Given the description of an element on the screen output the (x, y) to click on. 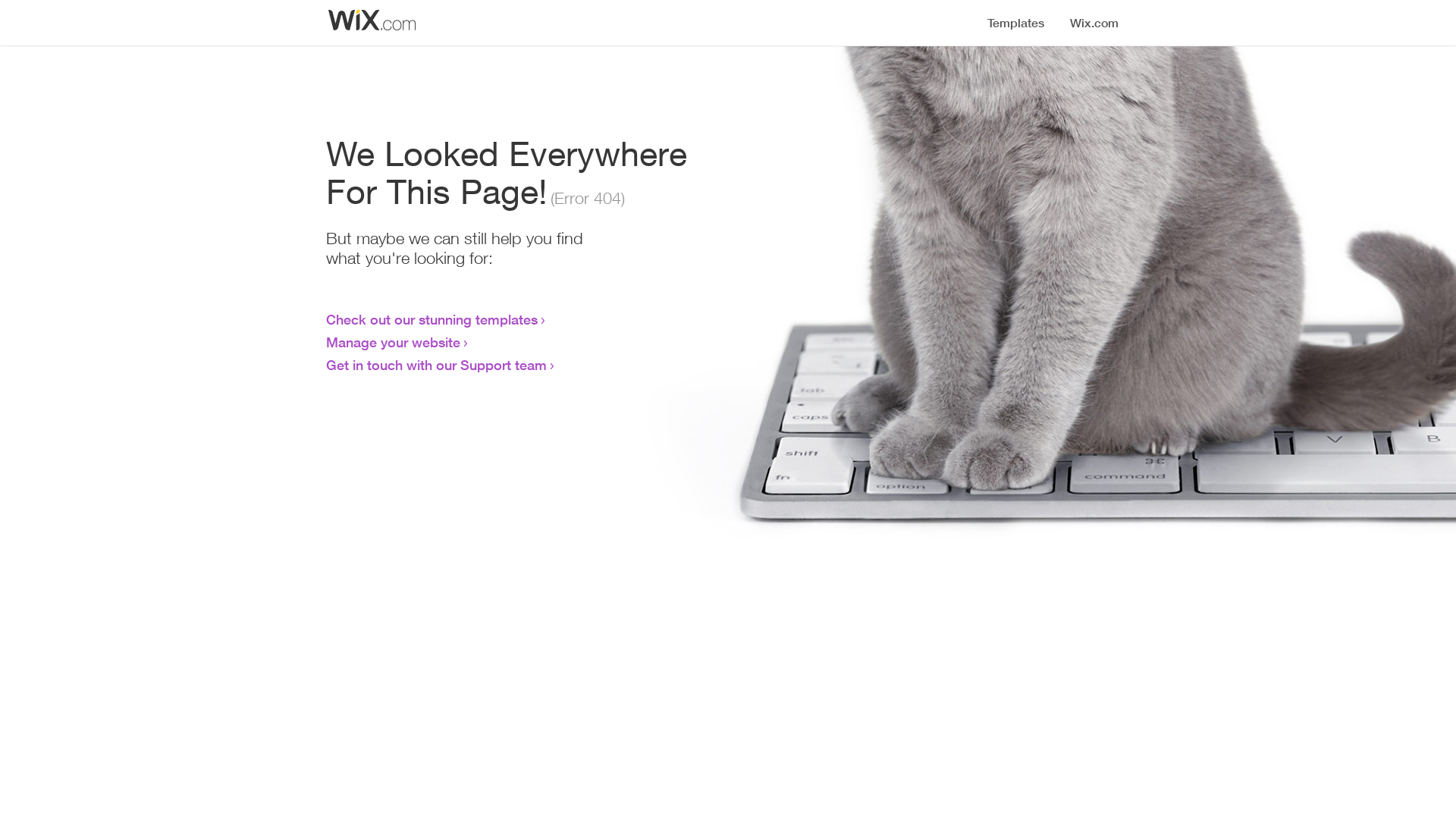
Manage your website Element type: text (393, 341)
Get in touch with our Support team Element type: text (436, 364)
Check out our stunning templates Element type: text (431, 318)
